Given the description of an element on the screen output the (x, y) to click on. 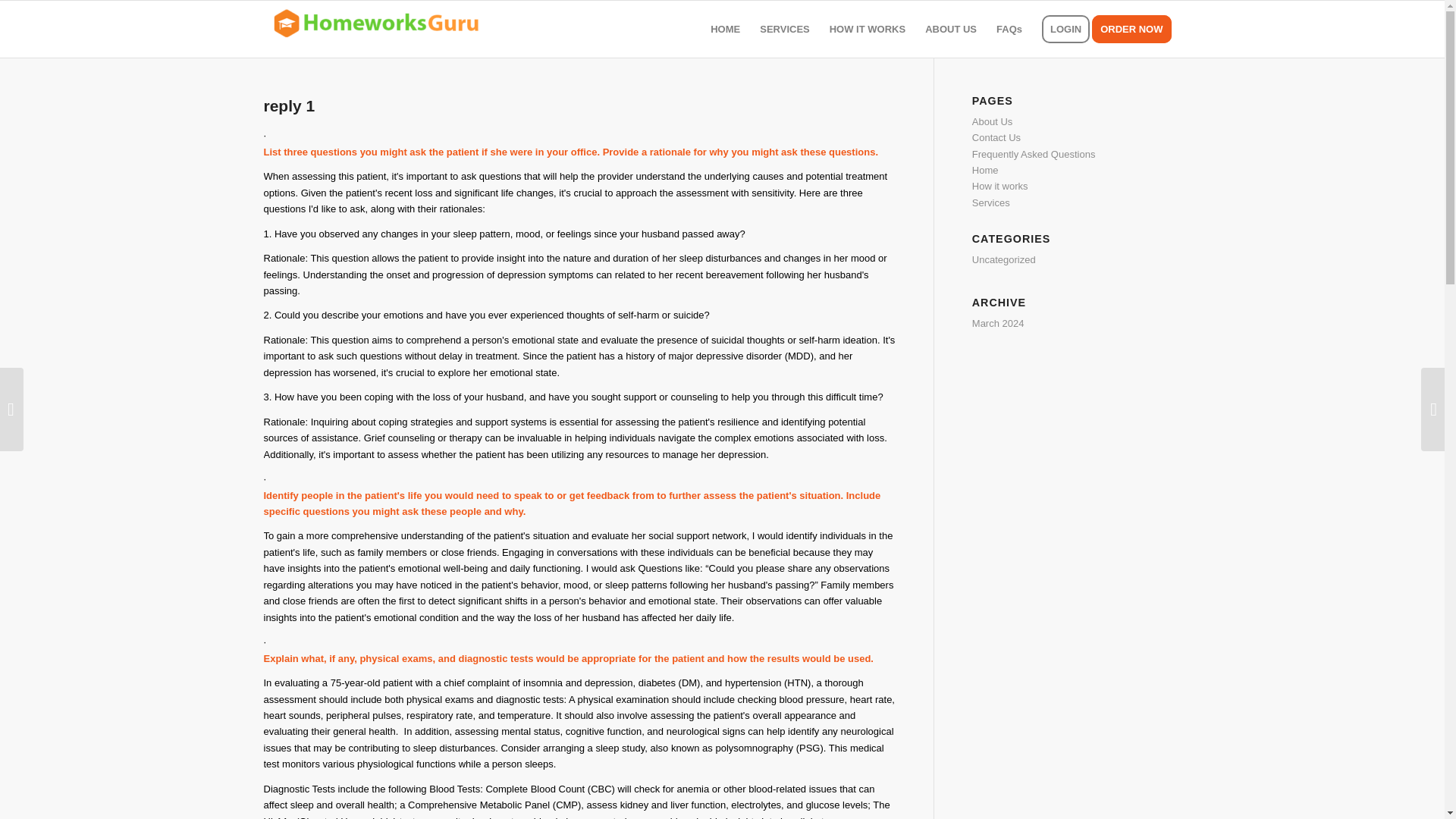
How it works (999, 185)
Home (985, 170)
Contact Us (996, 137)
Frequently Asked Questions (1034, 153)
March 2024 (998, 323)
ORDER NOW (1136, 28)
reply 1 (289, 105)
SERVICES (784, 28)
HOW IT WORKS (867, 28)
LOGIN (1065, 28)
ABOUT US (951, 28)
Permanent Link: reply 1 (289, 105)
About Us (991, 121)
Services (991, 202)
Uncategorized (1003, 259)
